Given the description of an element on the screen output the (x, y) to click on. 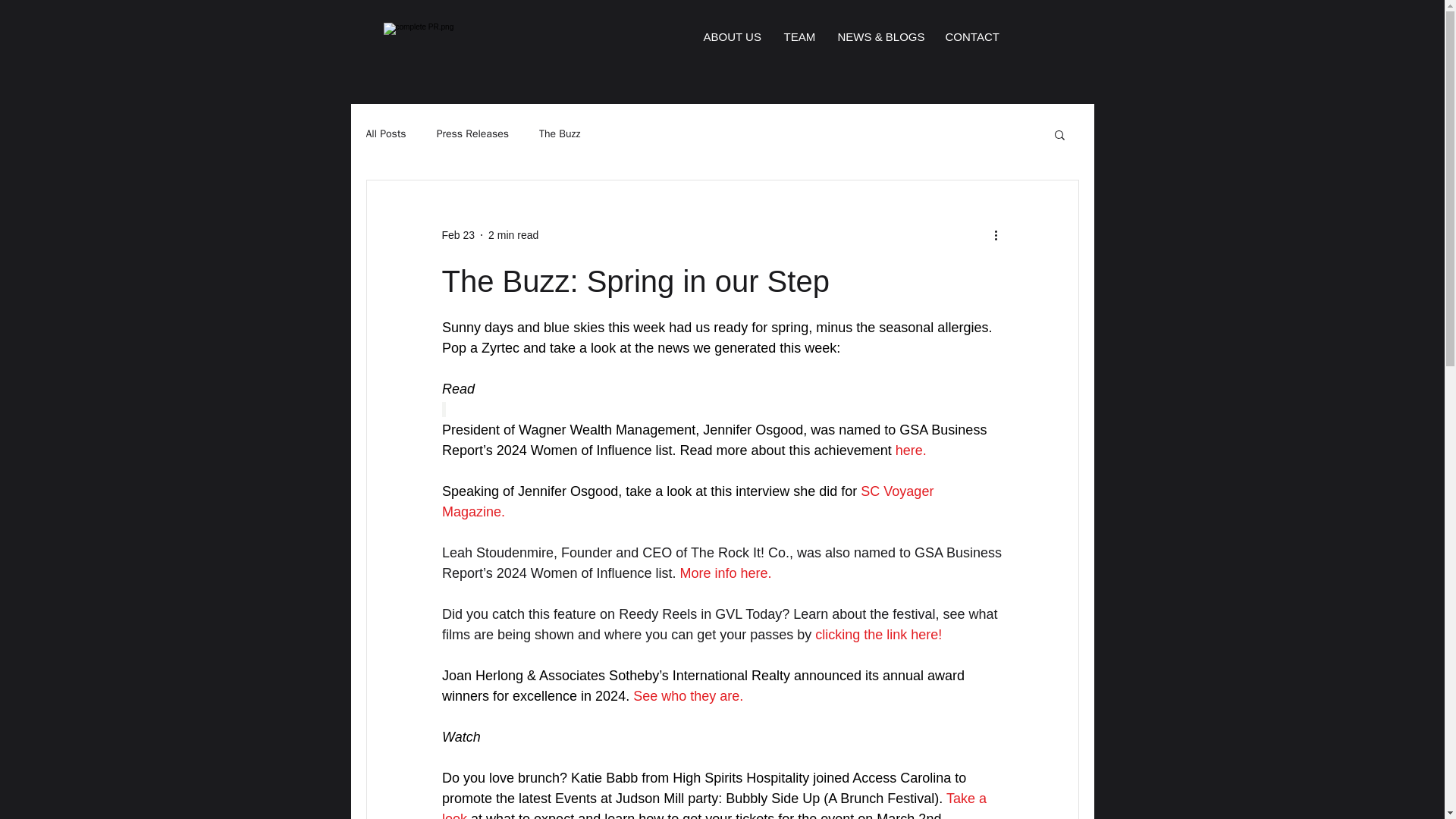
ABOUT US (731, 36)
All Posts (385, 133)
CONTACT (971, 36)
SC Voyager Magazine. (688, 501)
See who they are. (687, 695)
clicking the link here! (878, 634)
More info here. (725, 572)
here. (910, 450)
Feb 23 (457, 234)
2 min read (512, 234)
